Given the description of an element on the screen output the (x, y) to click on. 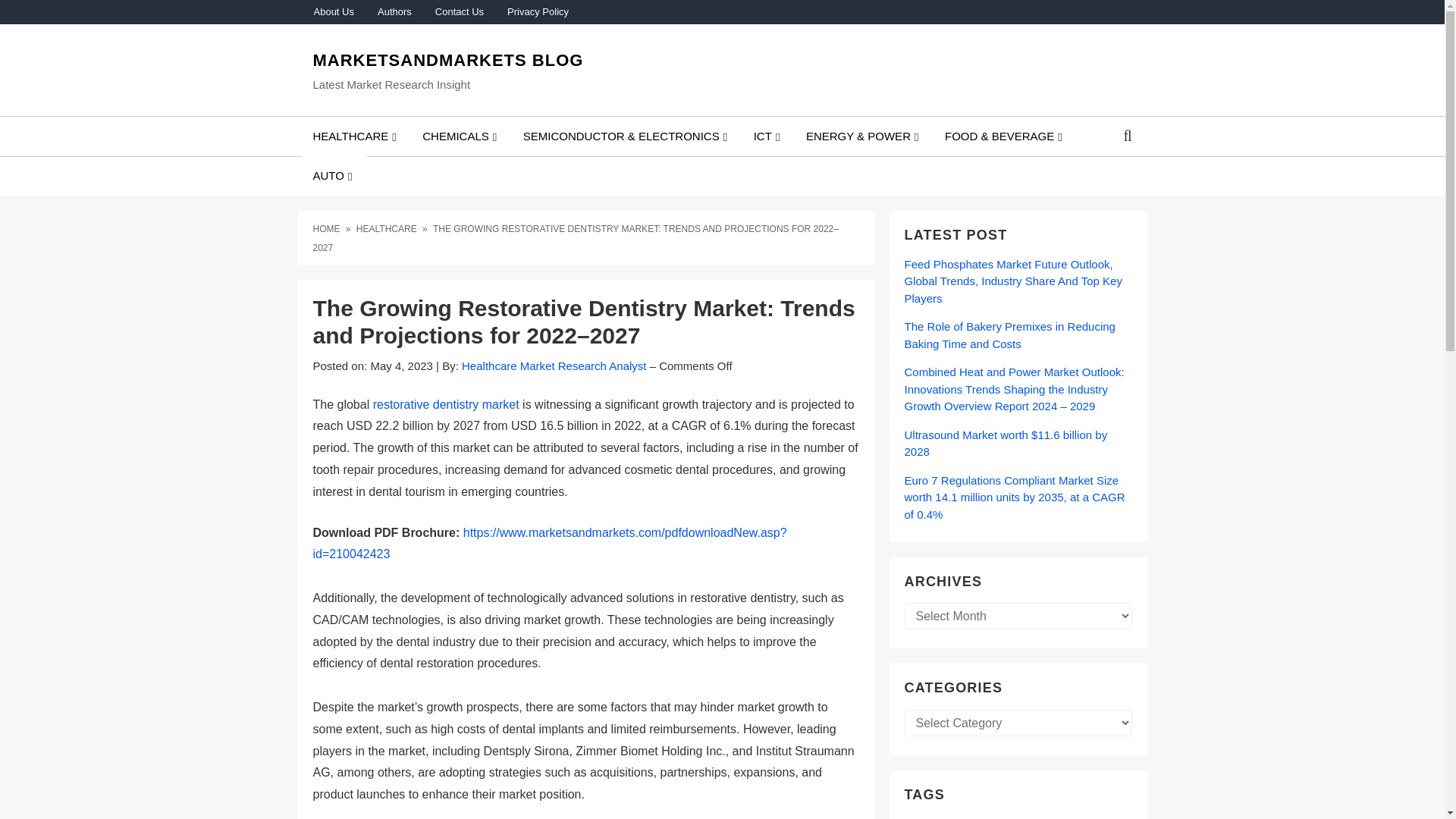
Authors (394, 12)
Healthcare (388, 227)
About Us (333, 12)
Home (327, 227)
Contact Us (459, 12)
MARKETSANDMARKETS BLOG (448, 60)
Privacy Policy (537, 12)
